Given the description of an element on the screen output the (x, y) to click on. 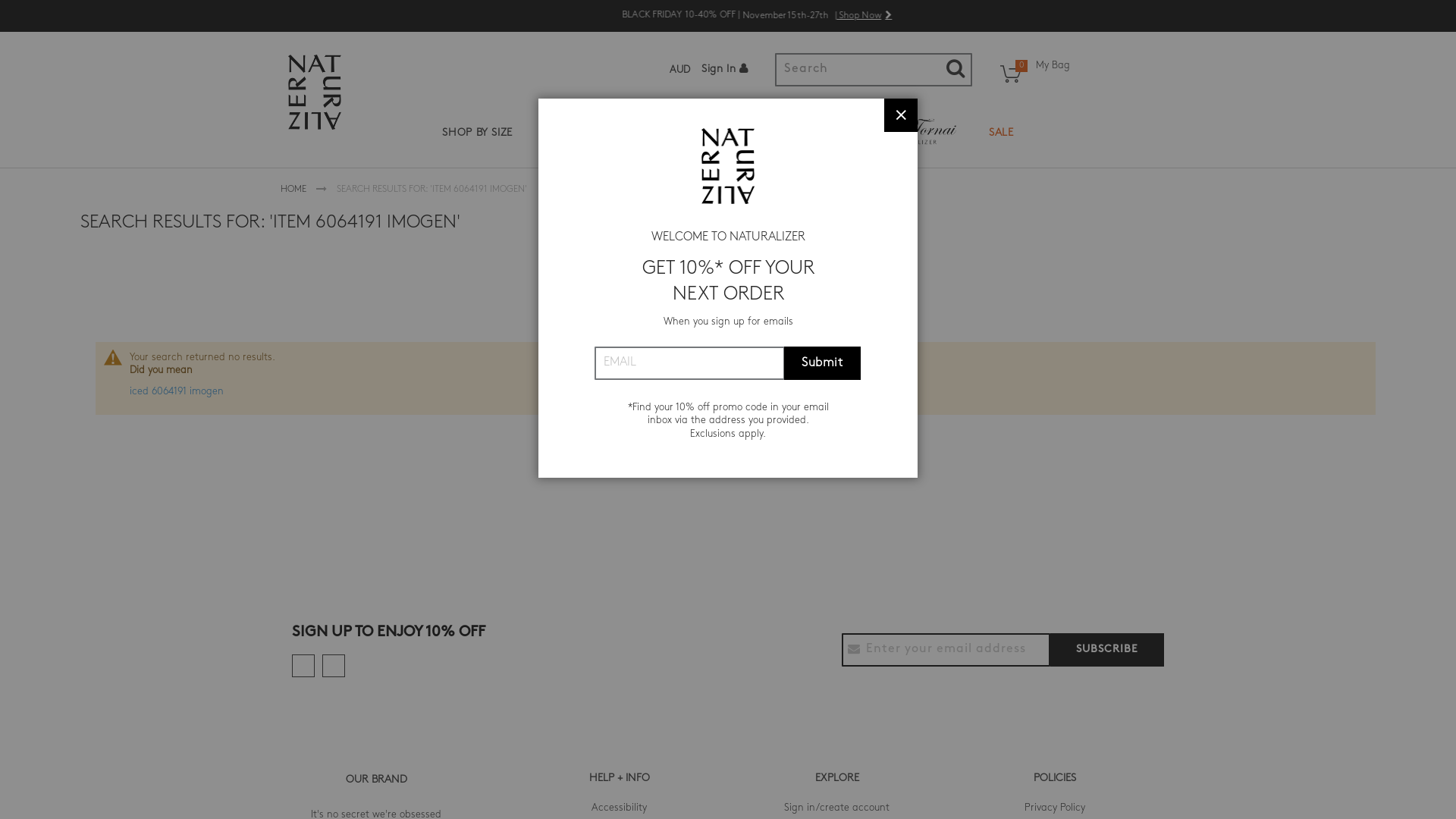
SHOP BY SIZE Element type: text (476, 133)
CLOSE Element type: text (900, 114)
HOME Element type: text (294, 189)
Sign in/create account Element type: text (836, 807)
SALE Element type: text (1001, 133)
SUBSCRIBE Element type: text (1107, 649)
SHOP Element type: text (613, 133)
  Element type: text (302, 665)
Accessibility Element type: text (618, 807)
My Bag
0 Element type: text (1031, 81)
iced 6064191 imogen Element type: text (176, 391)
  Element type: text (333, 665)
Submit Element type: text (822, 362)
Privacy Policy Element type: text (1054, 807)
Sign In Element type: text (726, 69)
| Shop Now Element type: text (862, 14)
COLLECTIONS Element type: text (786, 133)
Naturalizer Element type: hover (314, 91)
HANDBAGS Element type: text (688, 133)
NEW Element type: text (555, 133)
